Given the description of an element on the screen output the (x, y) to click on. 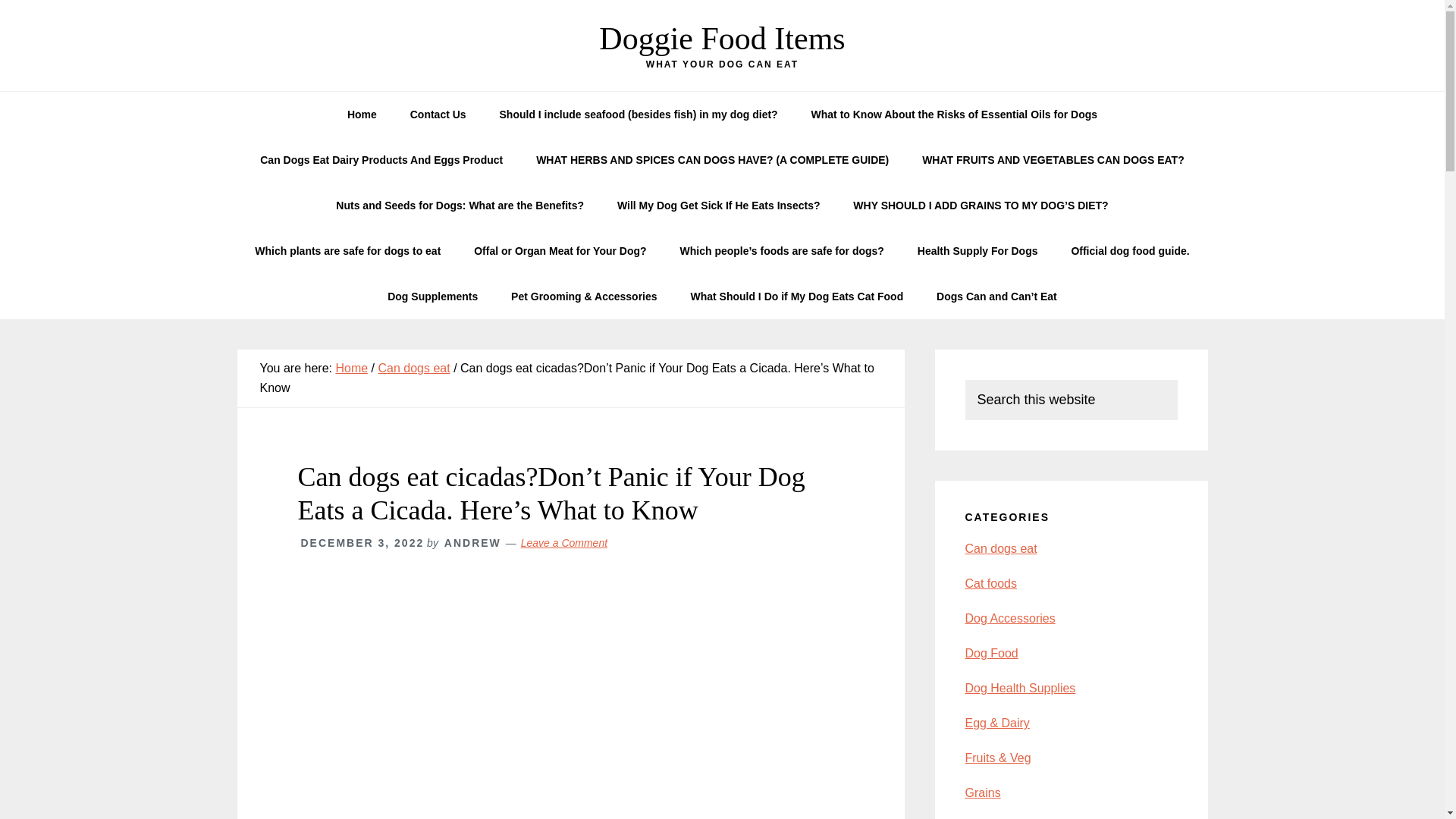
Leave a Comment (564, 542)
Will My Dog Get Sick If He Eats Insects? (718, 205)
Dog Supplements (432, 296)
What Should I Do if My Dog Eats Cat Food (796, 296)
Which plants are safe for dogs to eat (347, 250)
Home (361, 114)
Can dogs eat (413, 367)
